Given the description of an element on the screen output the (x, y) to click on. 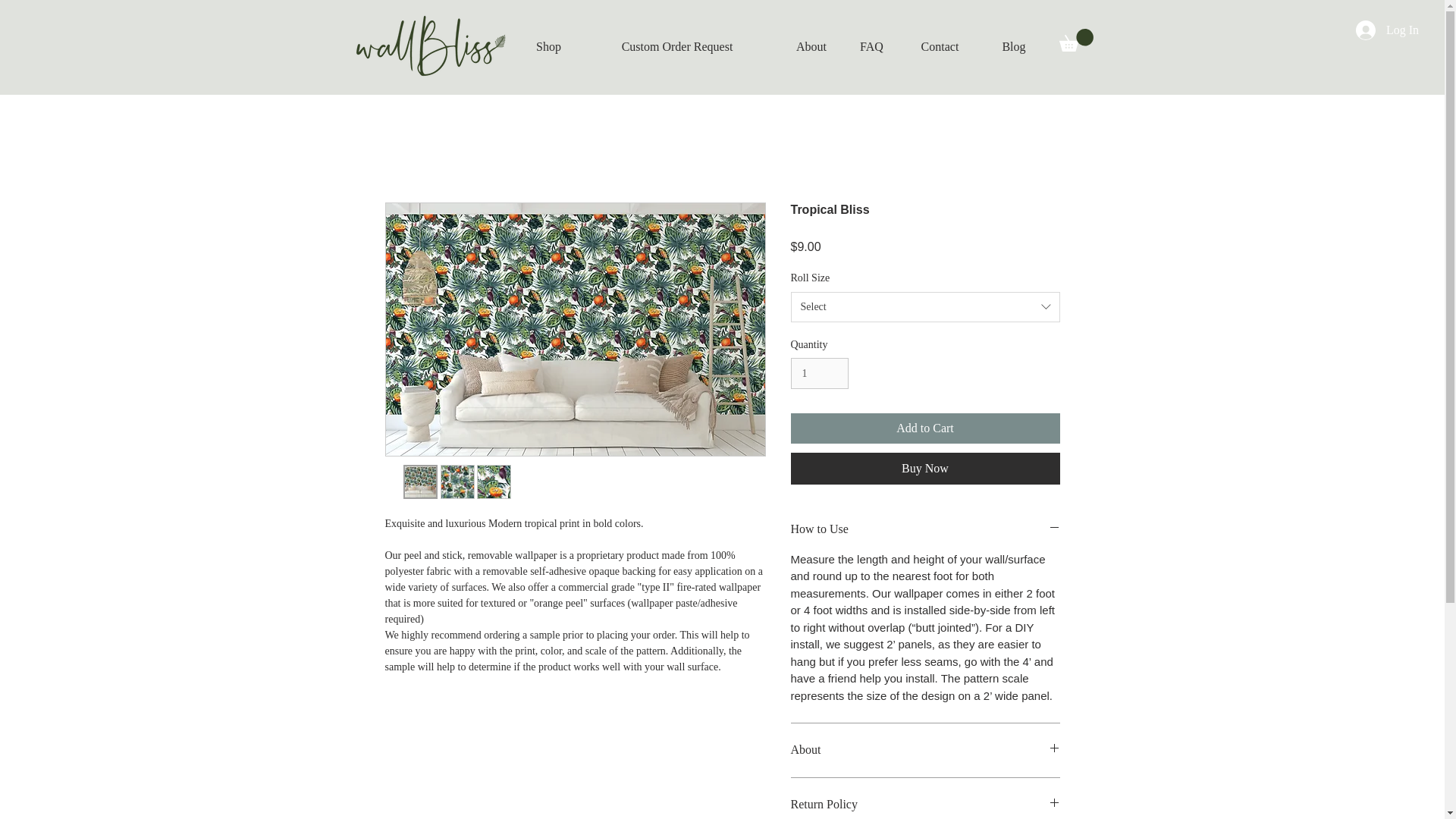
Select (924, 306)
Log In (1387, 30)
1 (818, 373)
Custom Order Request (677, 46)
Blog (1013, 46)
Shop (548, 46)
About (924, 750)
Buy Now (924, 468)
Add to Cart (924, 428)
FAQ (871, 46)
